Given the description of an element on the screen output the (x, y) to click on. 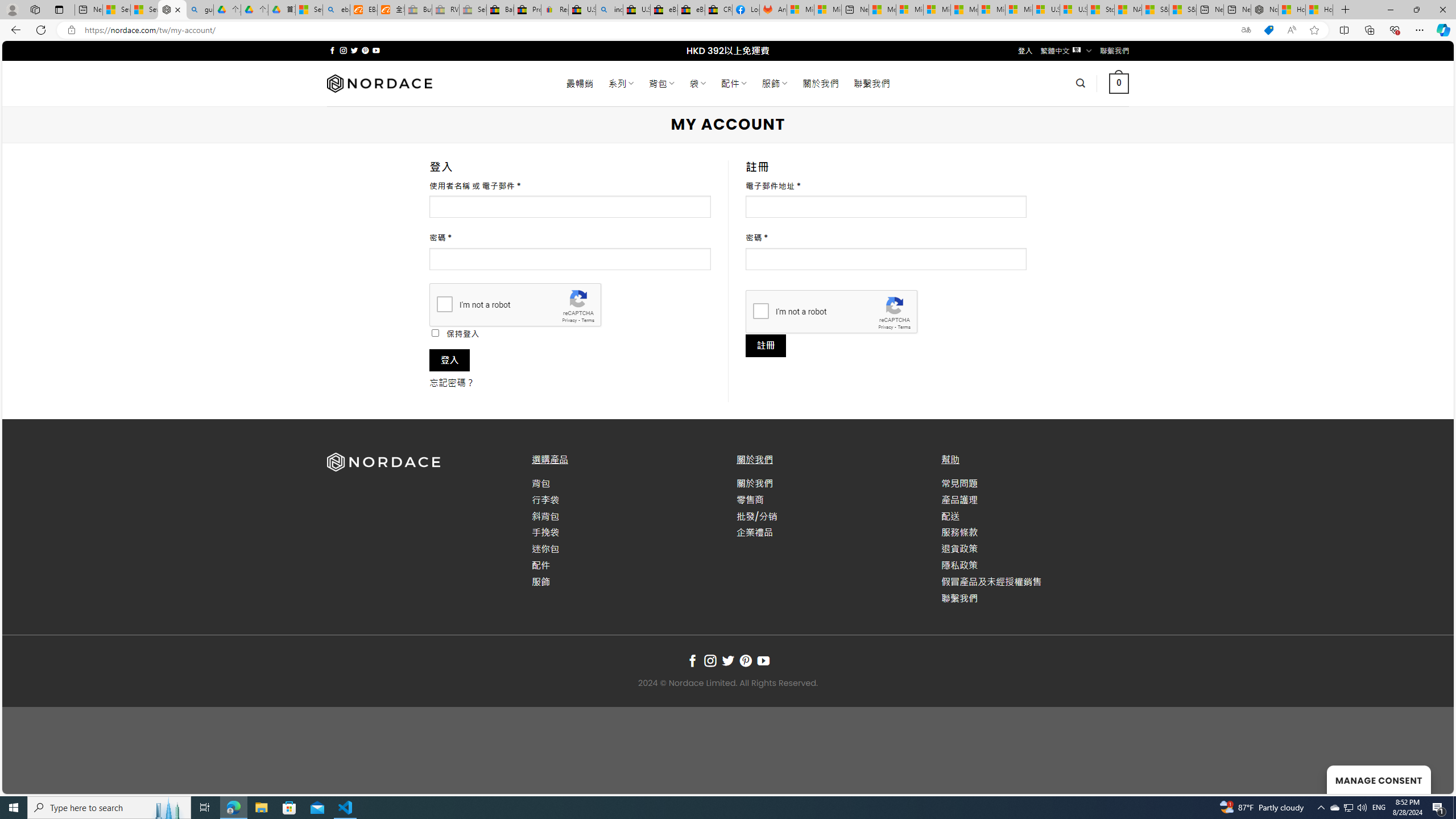
MANAGE CONSENT (1378, 779)
Show translate options (1245, 29)
Follow on Instagram (710, 660)
